Given the description of an element on the screen output the (x, y) to click on. 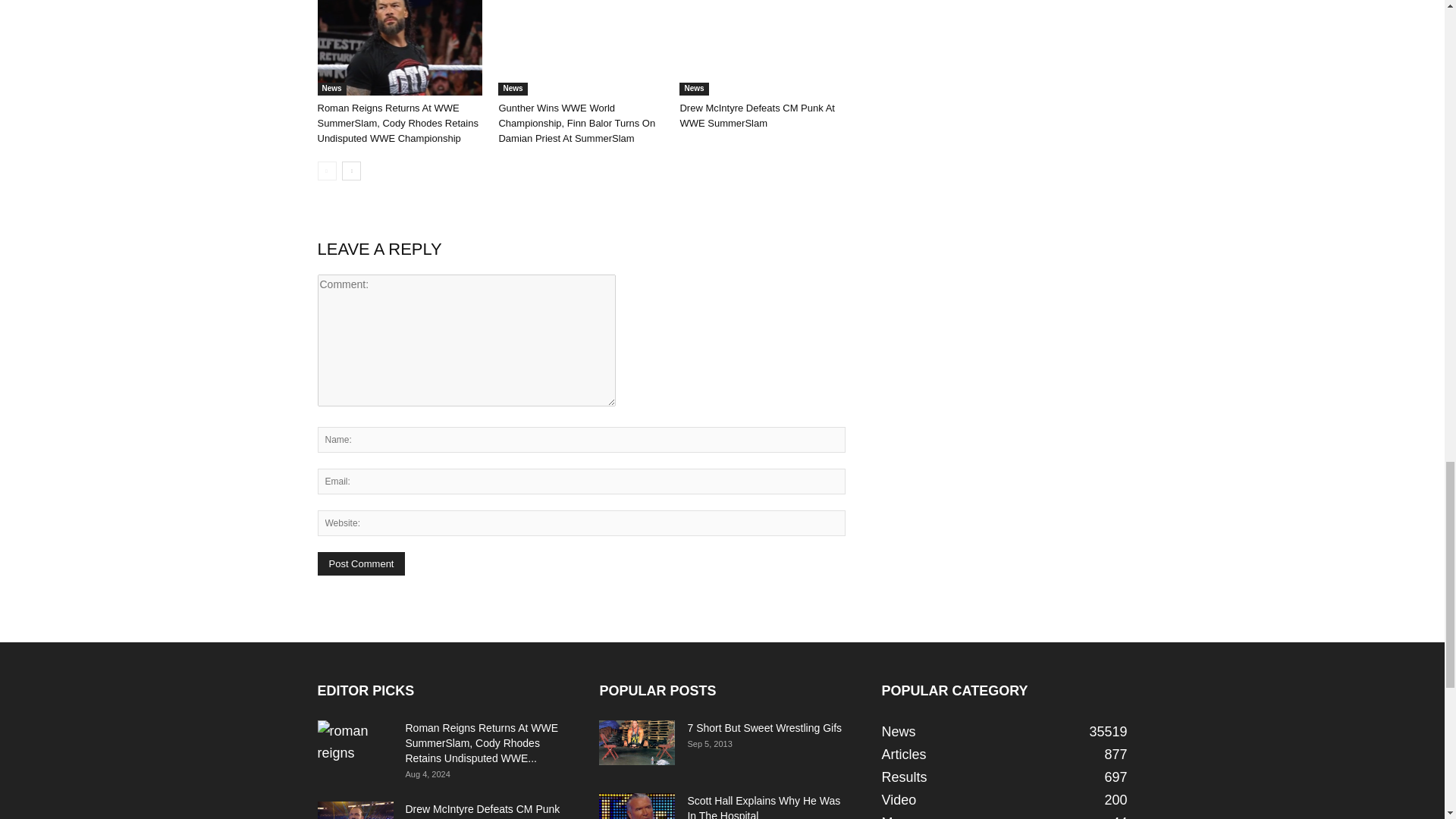
Post Comment (360, 563)
